Given the description of an element on the screen output the (x, y) to click on. 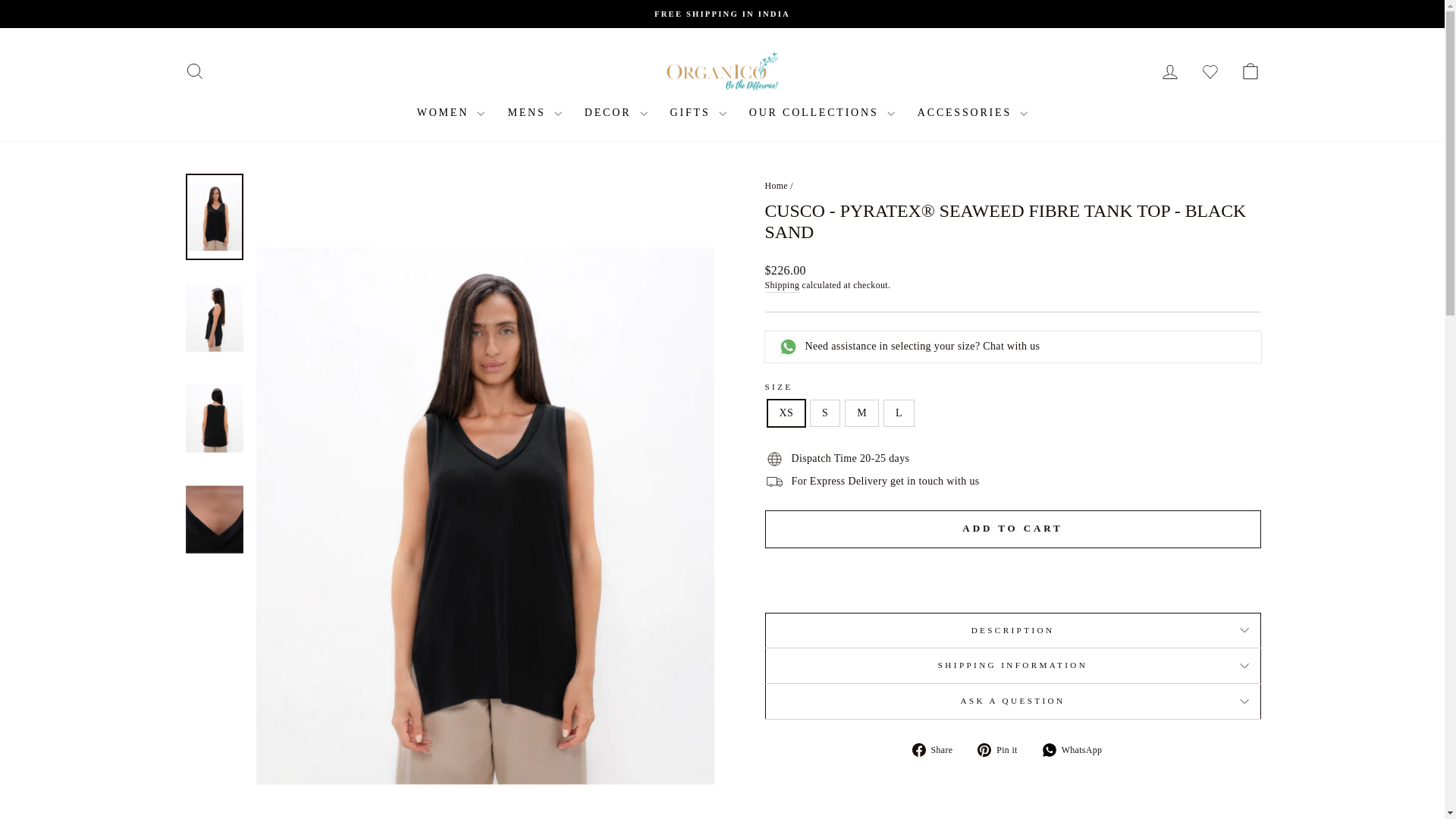
Created with Fabric.js 1.7.22 (1049, 749)
ICON-BAG-MINIMAL (1249, 70)
Back to the frontpage (775, 185)
ICON-SEARCH (194, 70)
FREE SHIPPING IN INDIA (722, 13)
Share on WhatsApp (1077, 749)
